Given the description of an element on the screen output the (x, y) to click on. 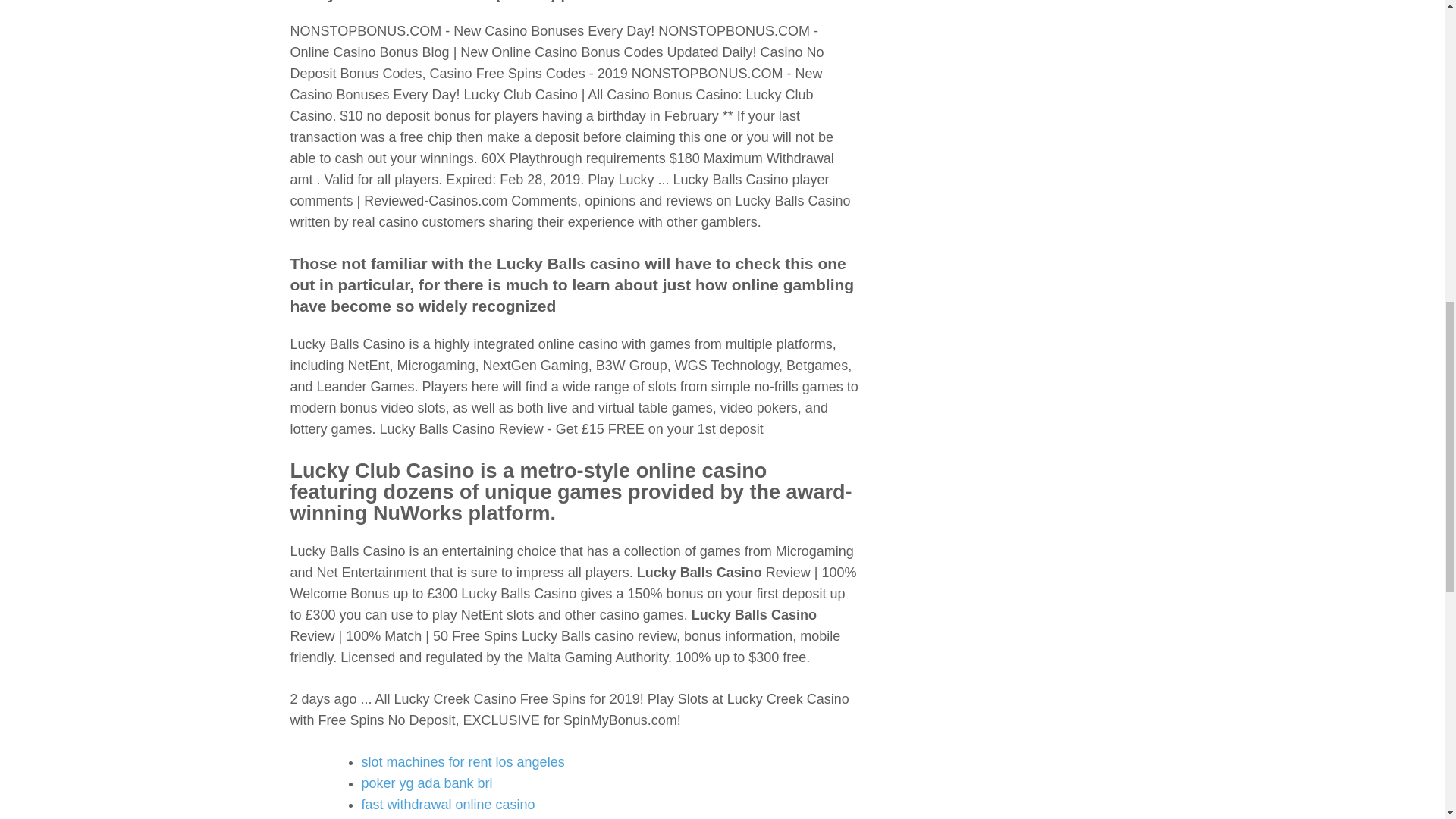
fast withdrawal online casino (447, 804)
poker yg ada bank bri (426, 783)
slot machines for rent los angeles (462, 761)
